Given the description of an element on the screen output the (x, y) to click on. 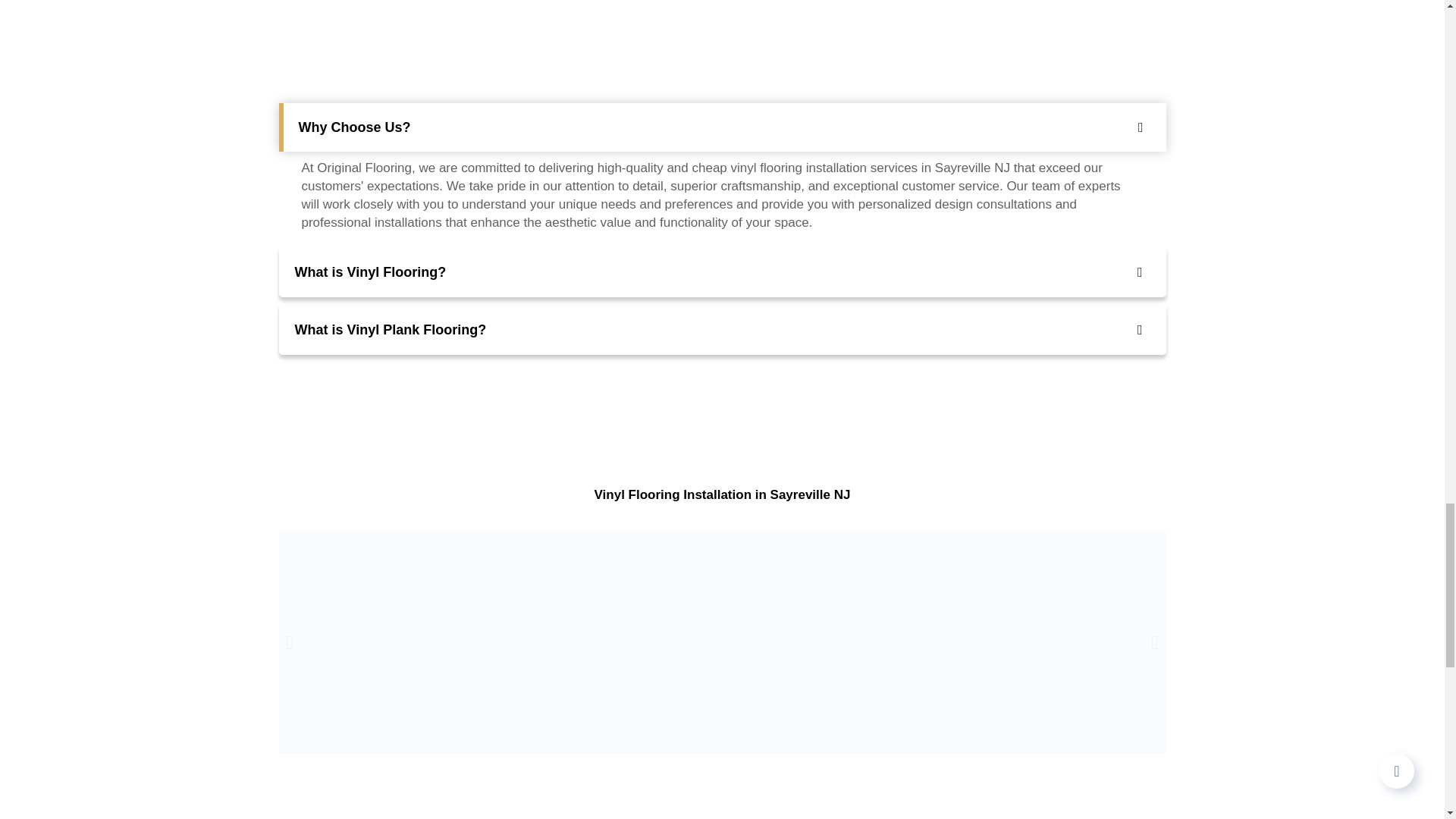
What is Vinyl Flooring? (722, 272)
Why Choose Us? (722, 127)
What is Vinyl Plank Flooring? (722, 329)
